Given the description of an element on the screen output the (x, y) to click on. 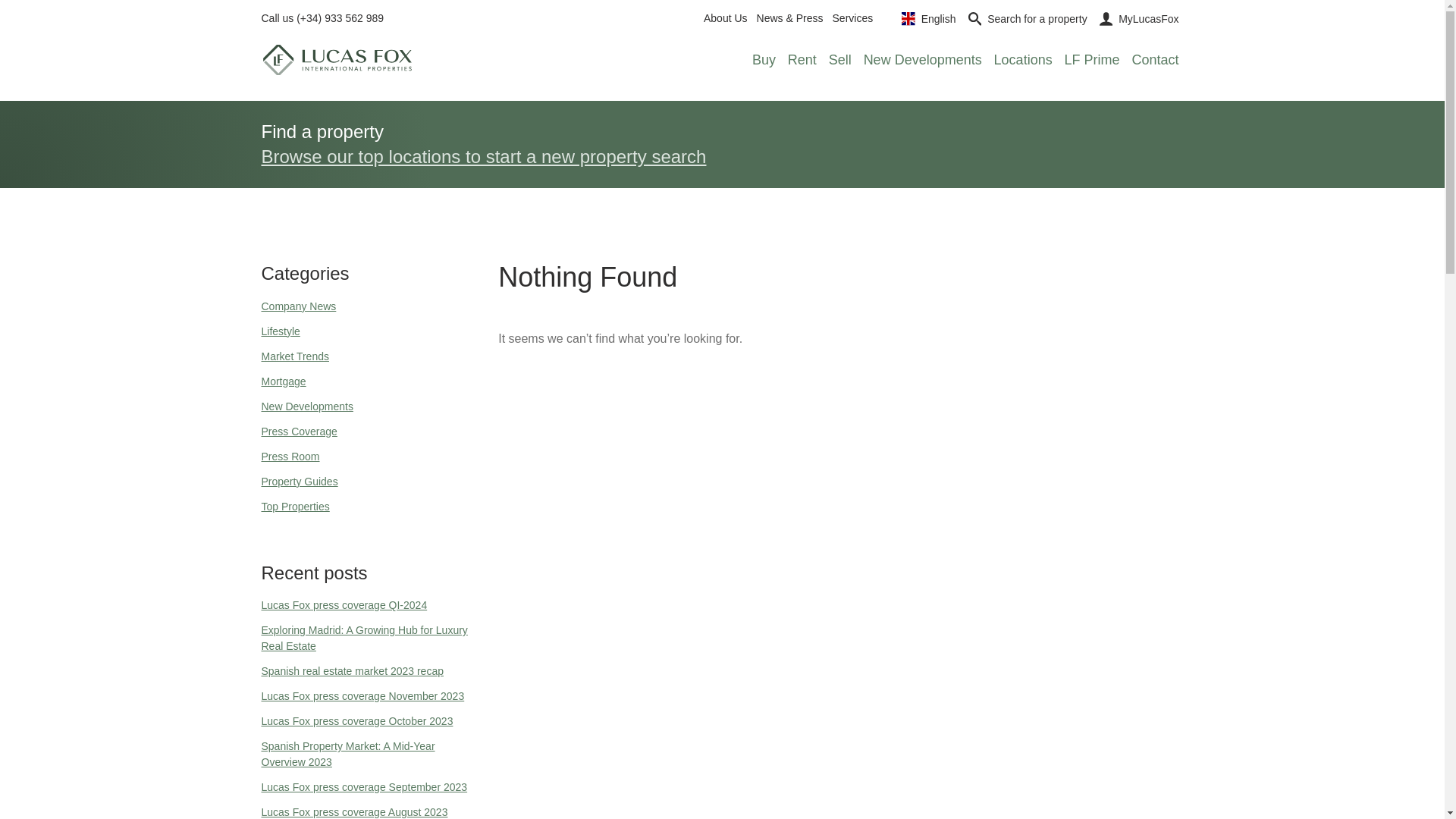
About Us (725, 18)
Lucas Fox Services (852, 18)
Residential properties in Spain, Andorra and Portugal (764, 60)
Sell or rent your property (840, 60)
Services (852, 18)
Search for a property (1027, 18)
English (927, 18)
MyLucasFox (1138, 18)
Buy (764, 60)
Rent (802, 60)
Residential long term rentals (802, 60)
About Us (725, 18)
